Given the description of an element on the screen output the (x, y) to click on. 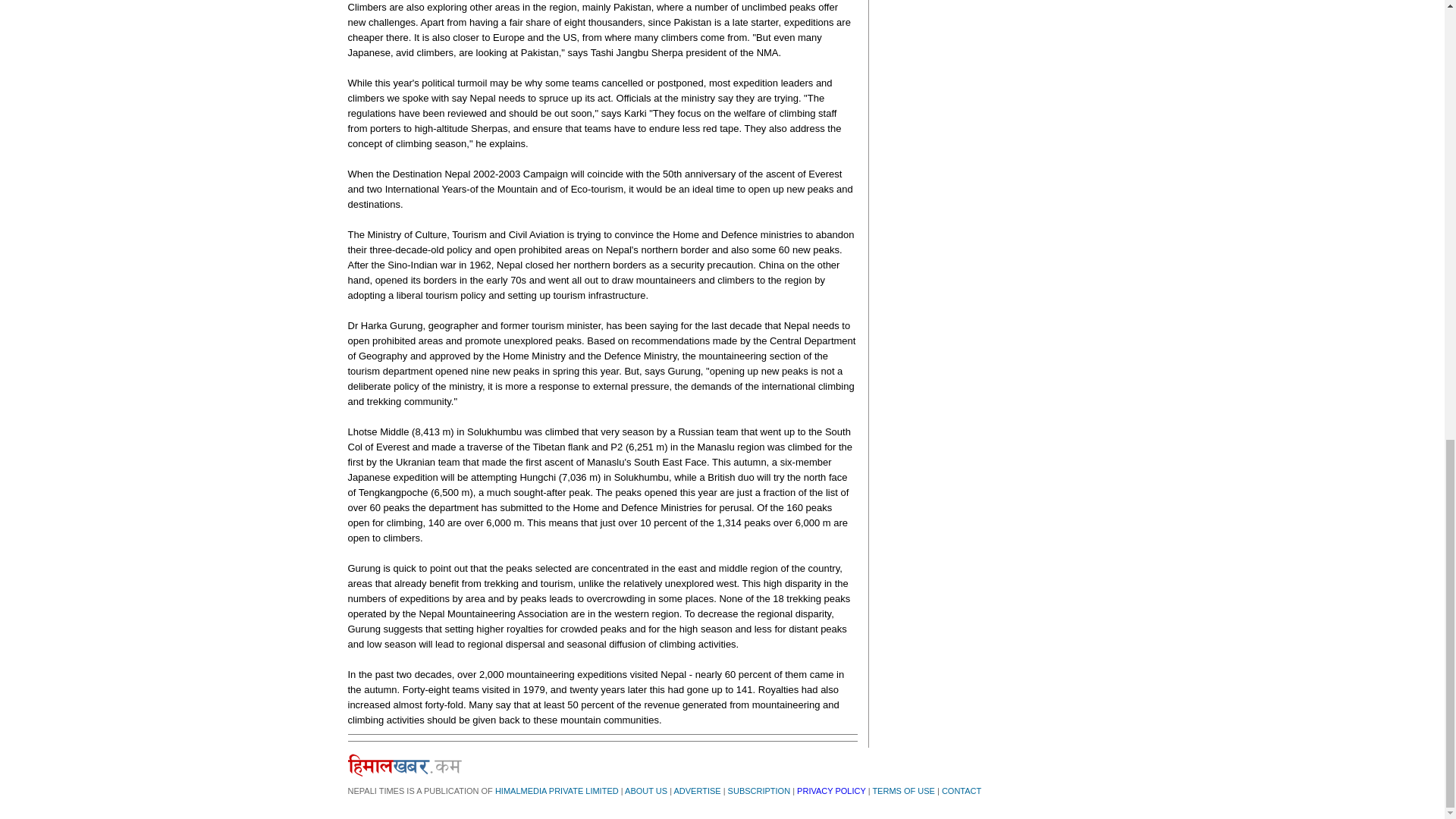
CONTACT (961, 790)
SUBSCRIPTION (759, 790)
HIMALMEDIA PRIVATE LIMITED (556, 790)
ADVERTISE (696, 790)
TERMS OF USE (903, 790)
ABOUT US (645, 790)
himalkhabar.com (404, 764)
PRIVACY POLICY (830, 790)
